Given the description of an element on the screen output the (x, y) to click on. 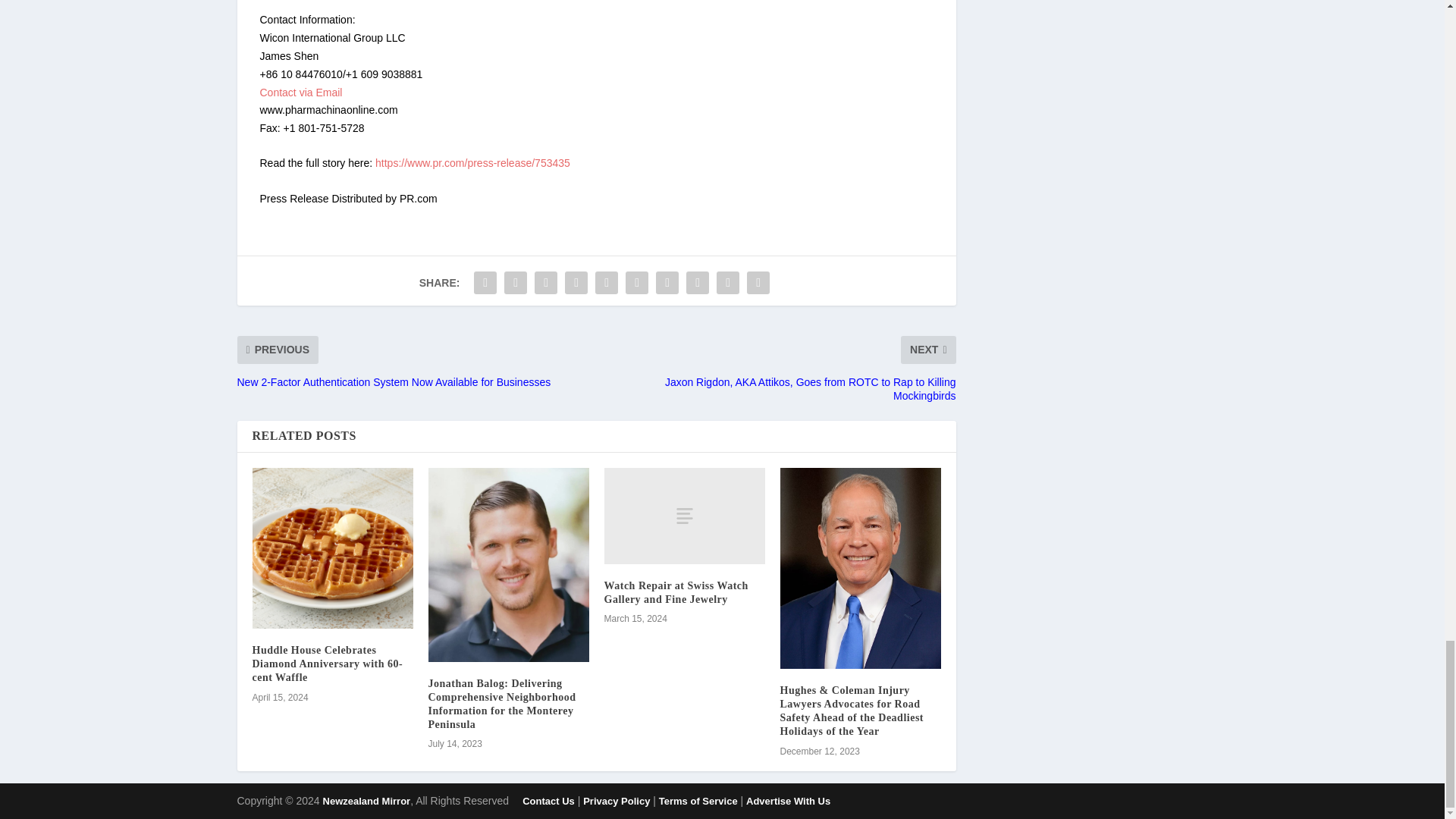
Contact via Email (300, 92)
Watch Repair at Swiss Watch Gallery and Fine Jewelry (684, 515)
